Given the description of an element on the screen output the (x, y) to click on. 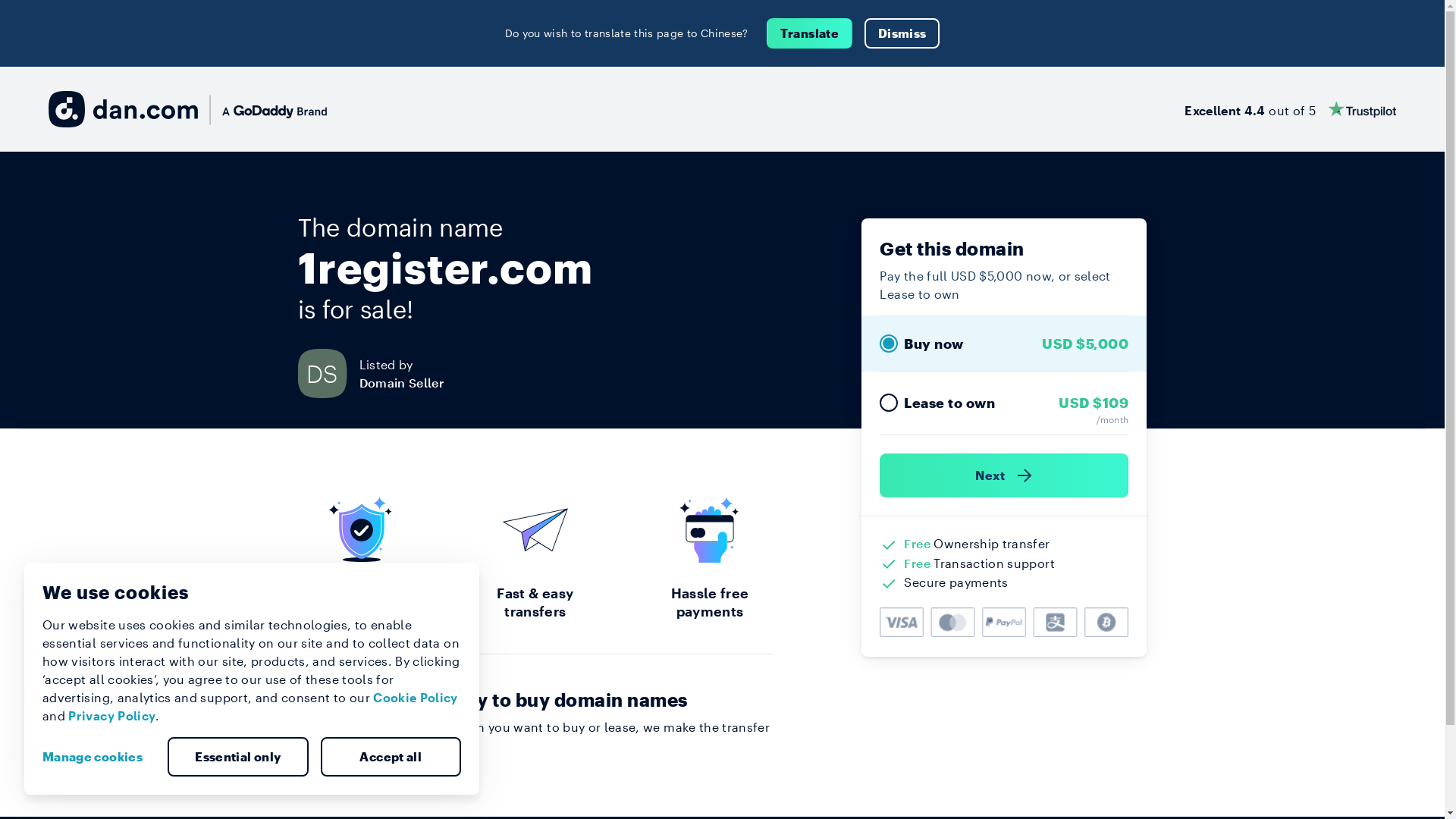
Excellent 4.4 out of 5 Element type: text (1290, 109)
Dismiss Element type: text (901, 33)
Essential only Element type: text (237, 756)
Translate Element type: text (809, 33)
Manage cookies Element type: text (98, 756)
Next
) Element type: text (1003, 475)
Cookie Policy Element type: text (415, 697)
Privacy Policy Element type: text (111, 715)
Accept all Element type: text (390, 756)
